Given the description of an element on the screen output the (x, y) to click on. 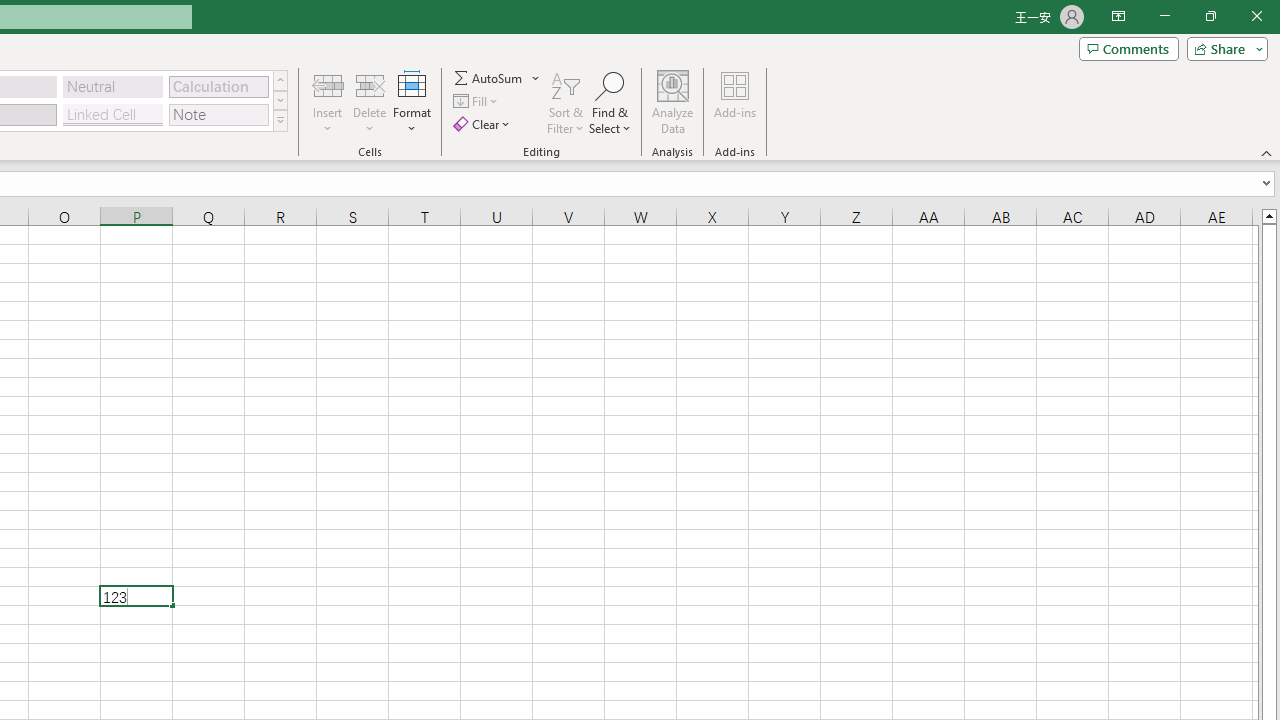
Insert Cells (328, 84)
Find & Select (610, 102)
Neutral (113, 86)
AutoSum (497, 78)
Cell Styles (280, 120)
Format (411, 102)
Sort & Filter (566, 102)
